Given the description of an element on the screen output the (x, y) to click on. 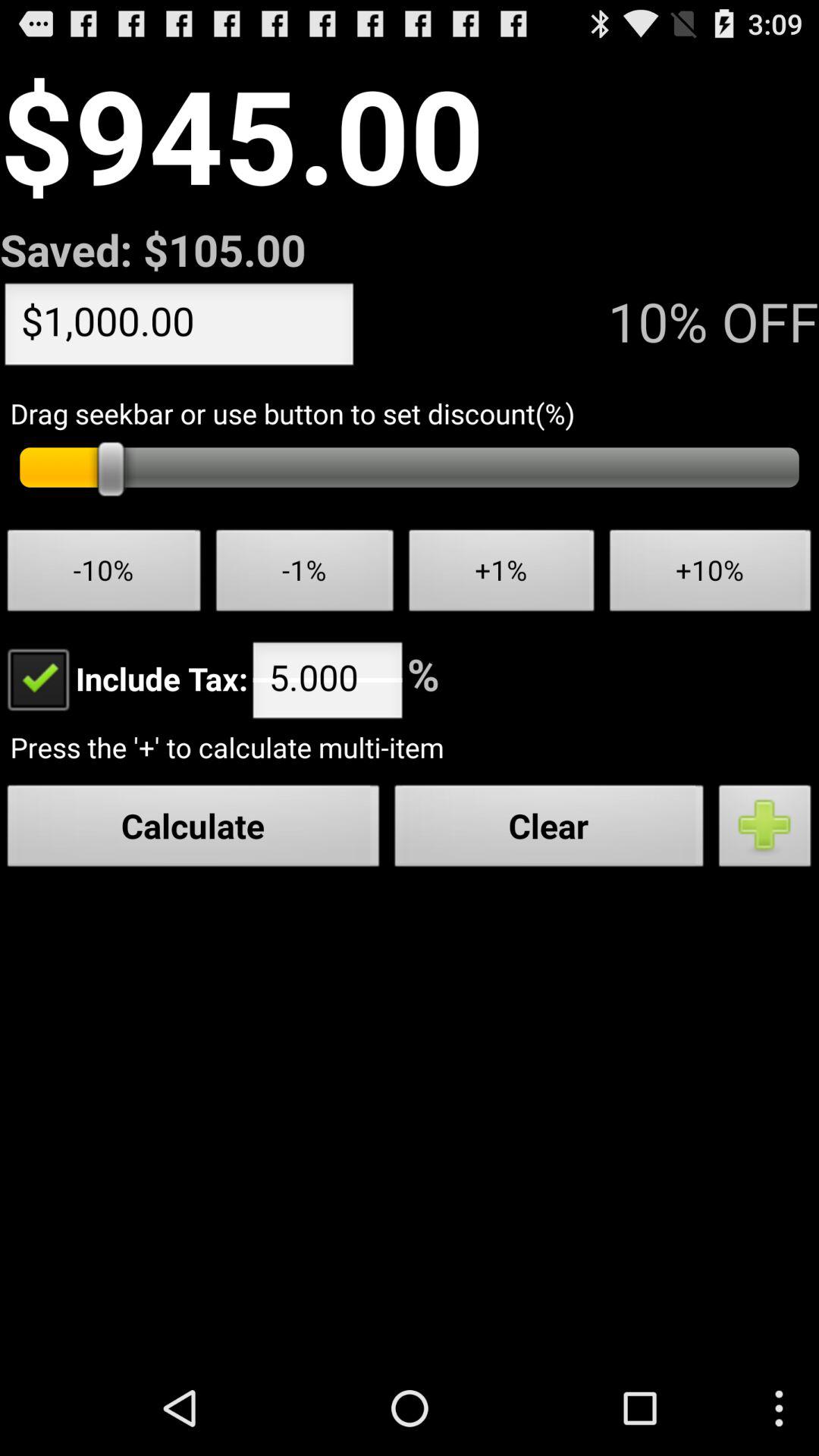
press item above the press the to icon (123, 678)
